Given the description of an element on the screen output the (x, y) to click on. 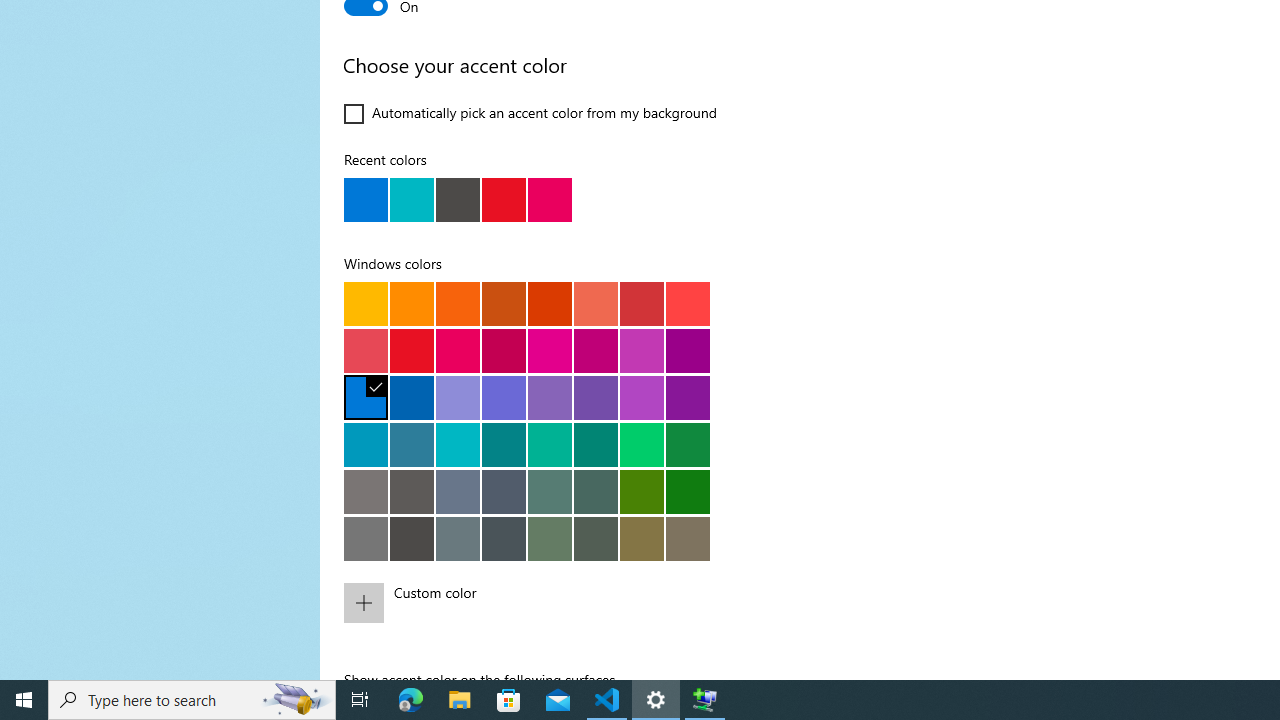
Rose (504, 350)
Moss (595, 491)
Mint light (549, 444)
Plum (595, 350)
Sage (595, 538)
Seafoam (458, 444)
Cool blue (411, 444)
Iris pastel (549, 397)
Meadow green (641, 491)
Pale rust (595, 303)
Rust (549, 303)
Orange bright (458, 303)
Automatically pick an accent color from my background (531, 113)
Cool blue bright (365, 444)
